Given the description of an element on the screen output the (x, y) to click on. 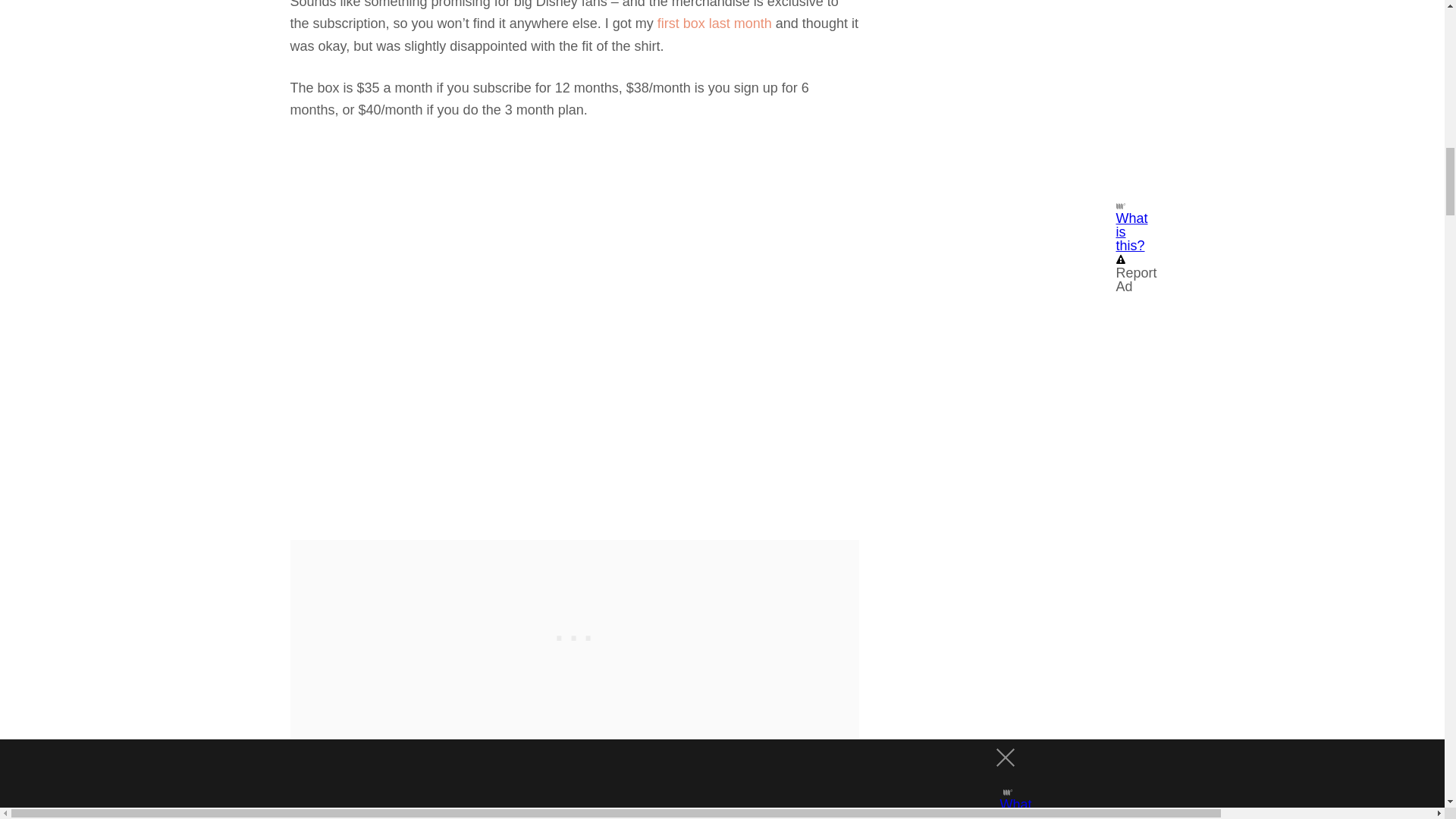
first box last month (712, 23)
3rd party ad content (574, 634)
3rd party ad content (1017, 103)
